Given the description of an element on the screen output the (x, y) to click on. 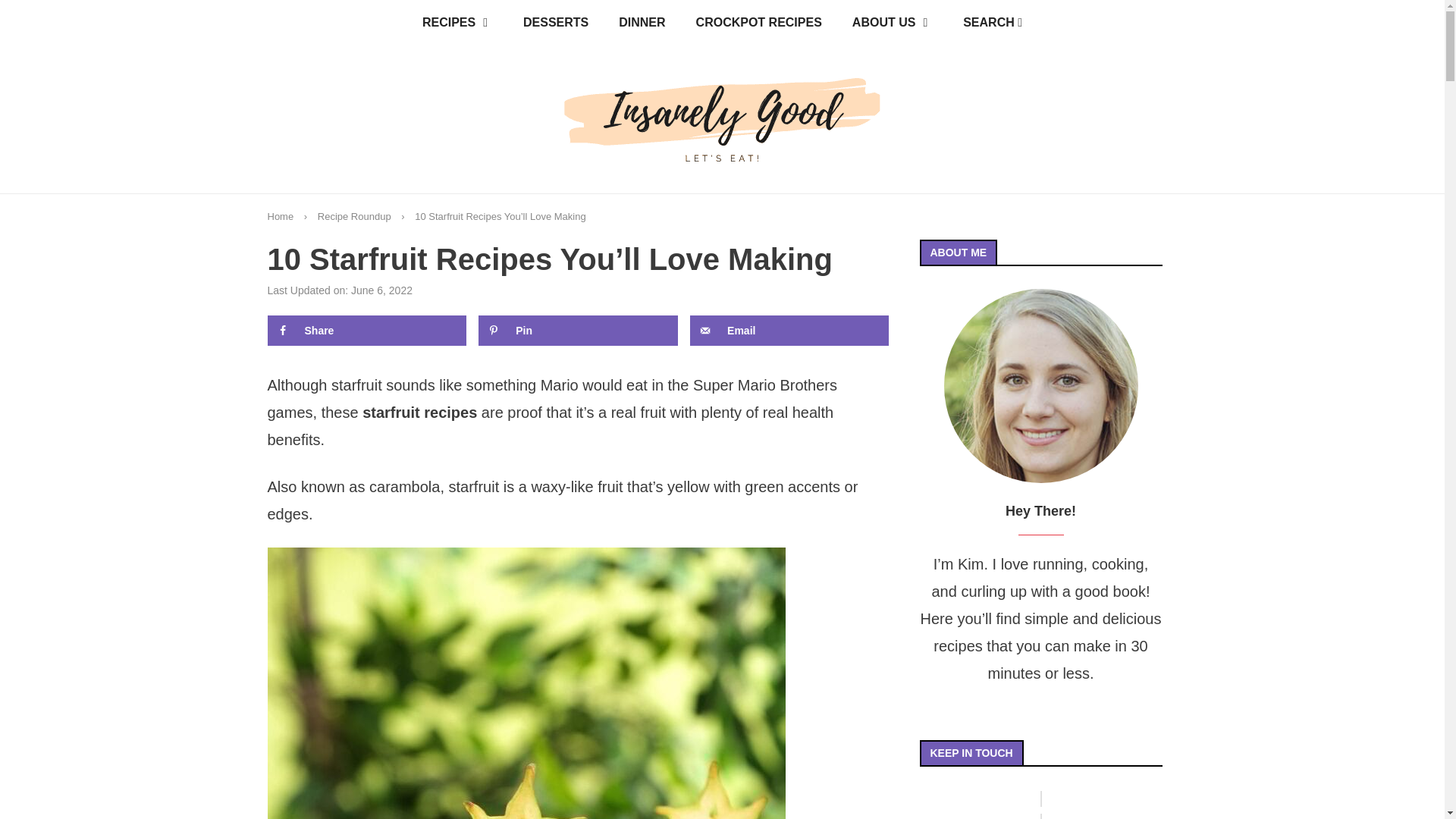
RECIPES (457, 22)
Pin (578, 330)
Save to Pinterest (578, 330)
Recipe Roundup (354, 215)
CROCKPOT RECIPES (759, 22)
Home (280, 215)
Recipe Roundup (354, 215)
Home (280, 215)
Share on Facebook (365, 330)
Send over email (789, 330)
DESSERTS (556, 22)
Email (789, 330)
Share (365, 330)
ABOUT US (892, 22)
DINNER (641, 22)
